Given the description of an element on the screen output the (x, y) to click on. 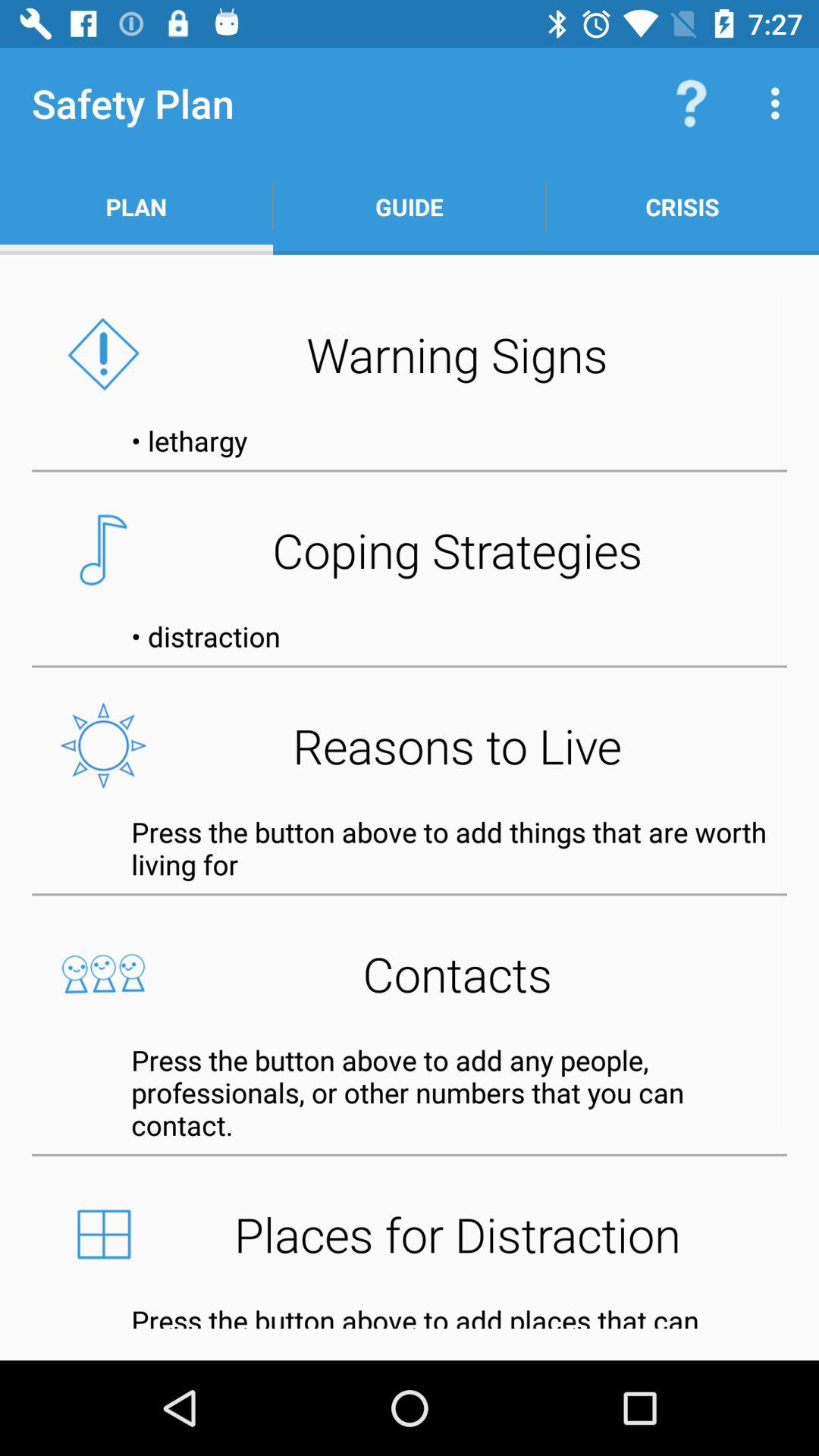
scroll until the reasons to live button (409, 745)
